Given the description of an element on the screen output the (x, y) to click on. 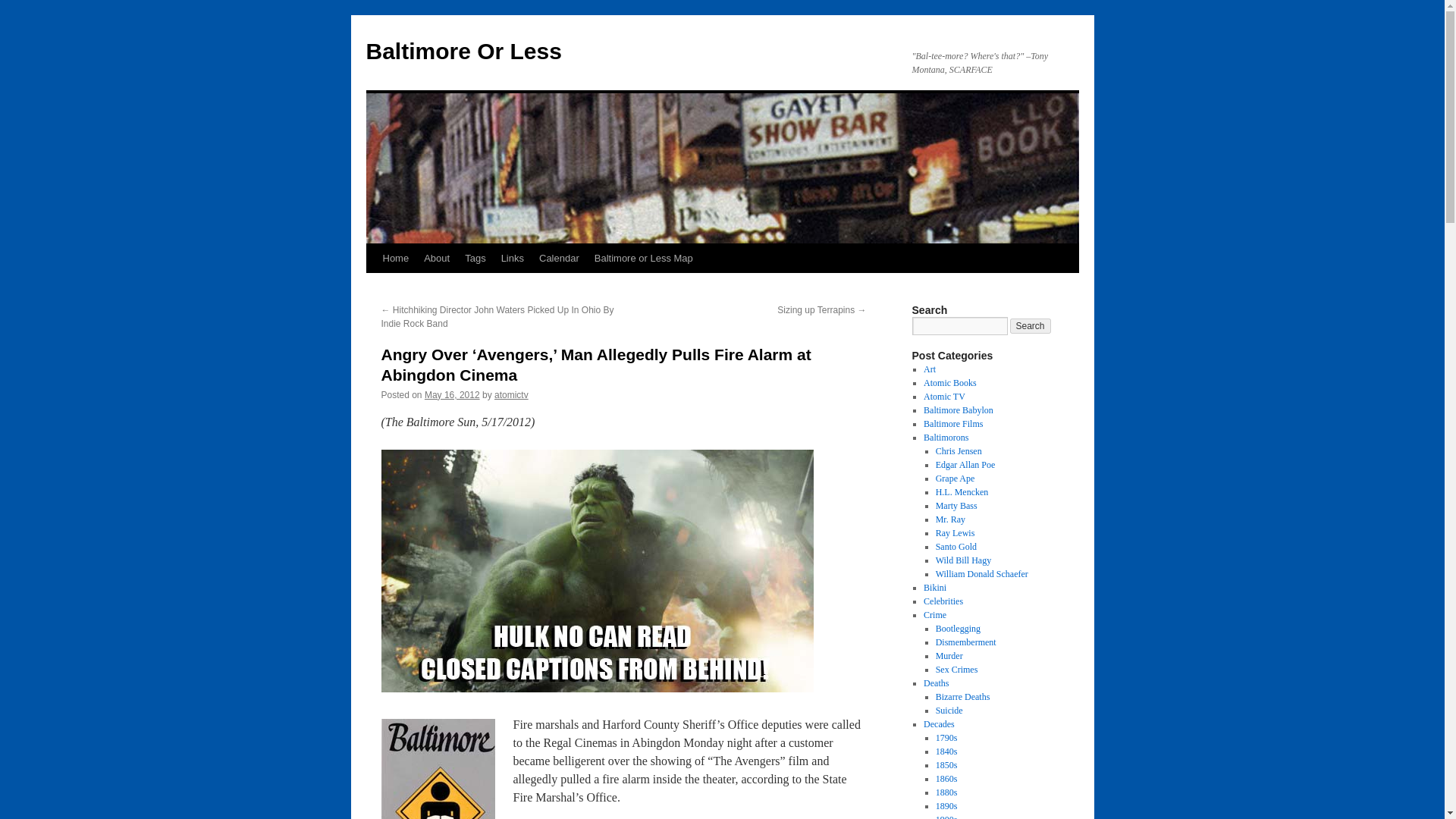
Calendar (558, 258)
Baltimore Or Less (462, 50)
Tags (475, 258)
Atomic TV (944, 396)
Mr. Ray (950, 519)
About (436, 258)
Baltimore or Less Map (643, 258)
atomictv (511, 394)
William Donald Schaefer (981, 573)
Baltimore Babylon (957, 409)
Search (1030, 325)
Links (512, 258)
About (436, 258)
Grape Ape (955, 478)
Links (512, 258)
